Given the description of an element on the screen output the (x, y) to click on. 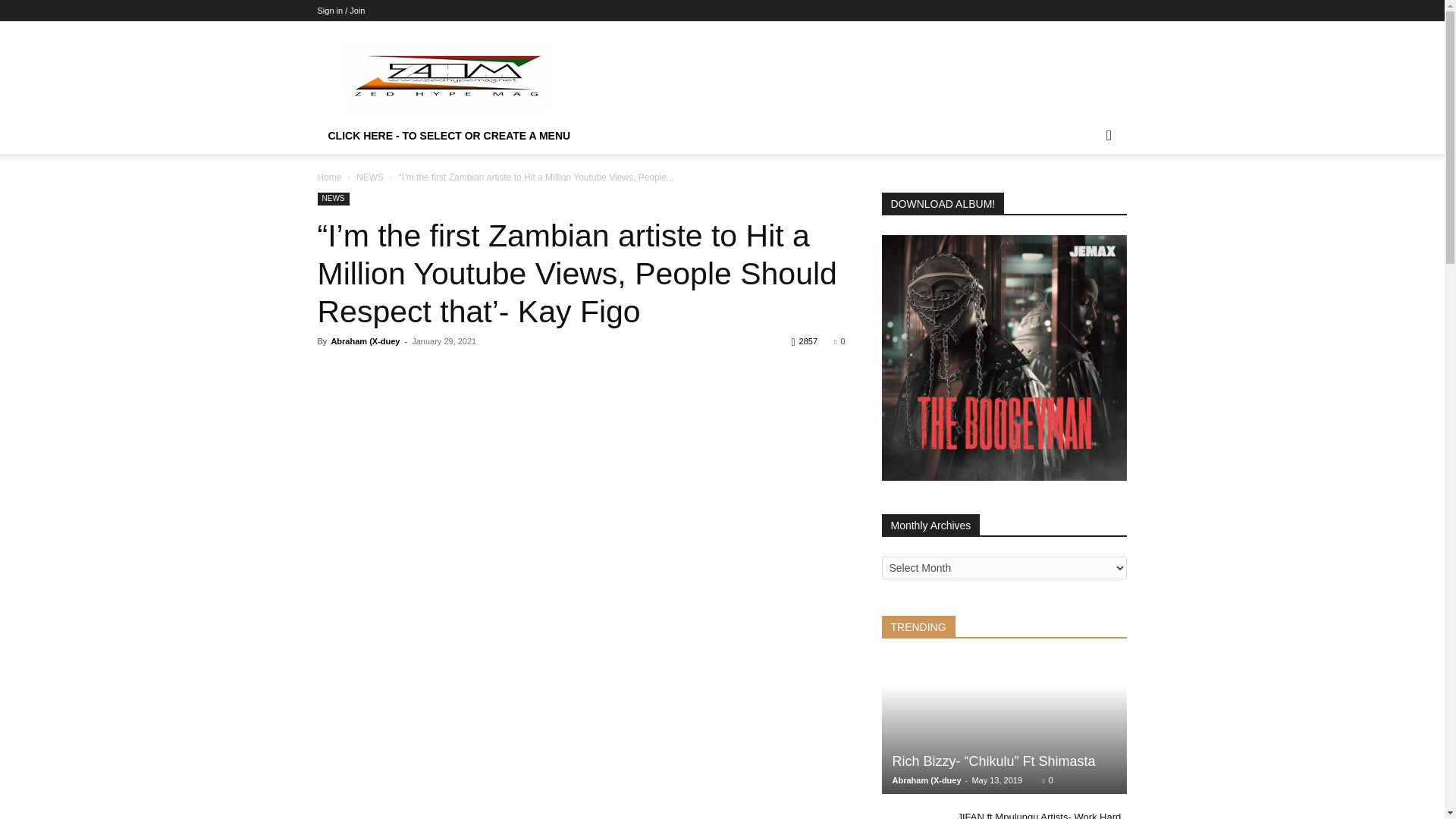
0 (839, 340)
Home (328, 176)
NEWS (370, 176)
NEWS (333, 198)
CLICK HERE - TO SELECT OR CREATE A MENU (448, 135)
View all posts in NEWS (370, 176)
Search (1085, 196)
